Given the description of an element on the screen output the (x, y) to click on. 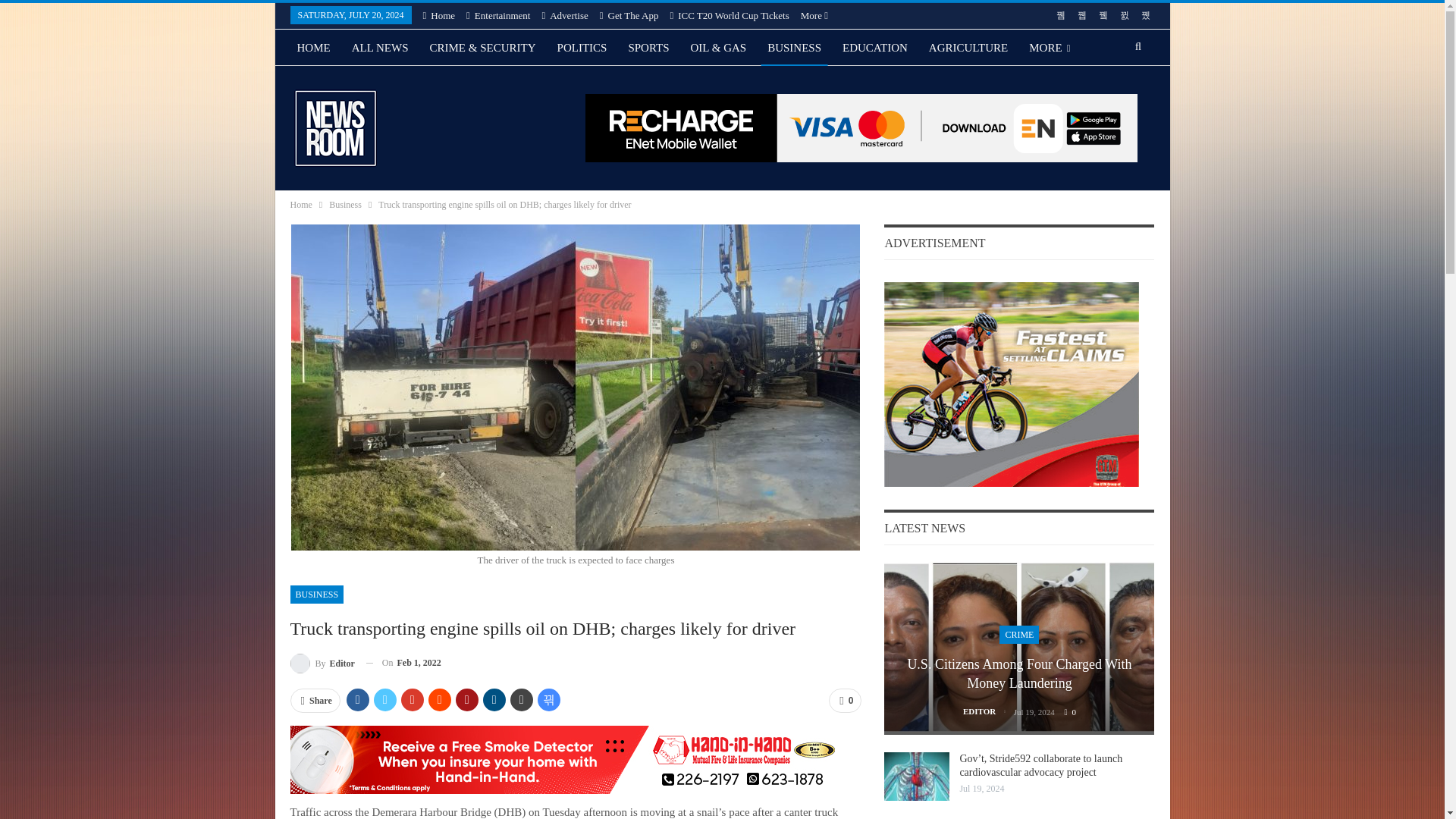
Business (345, 204)
Browse Author Articles (321, 662)
Home (300, 204)
Get The App (629, 15)
BUSINESS (316, 594)
SPORTS (648, 47)
Entertainment (497, 15)
AGRICULTURE (967, 47)
Home (439, 15)
ICC T20 World Cup Tickets (729, 15)
EDUCATION (874, 47)
Advertise (564, 15)
HOME (312, 47)
ALL NEWS (379, 47)
MORE (1049, 47)
